Given the description of an element on the screen output the (x, y) to click on. 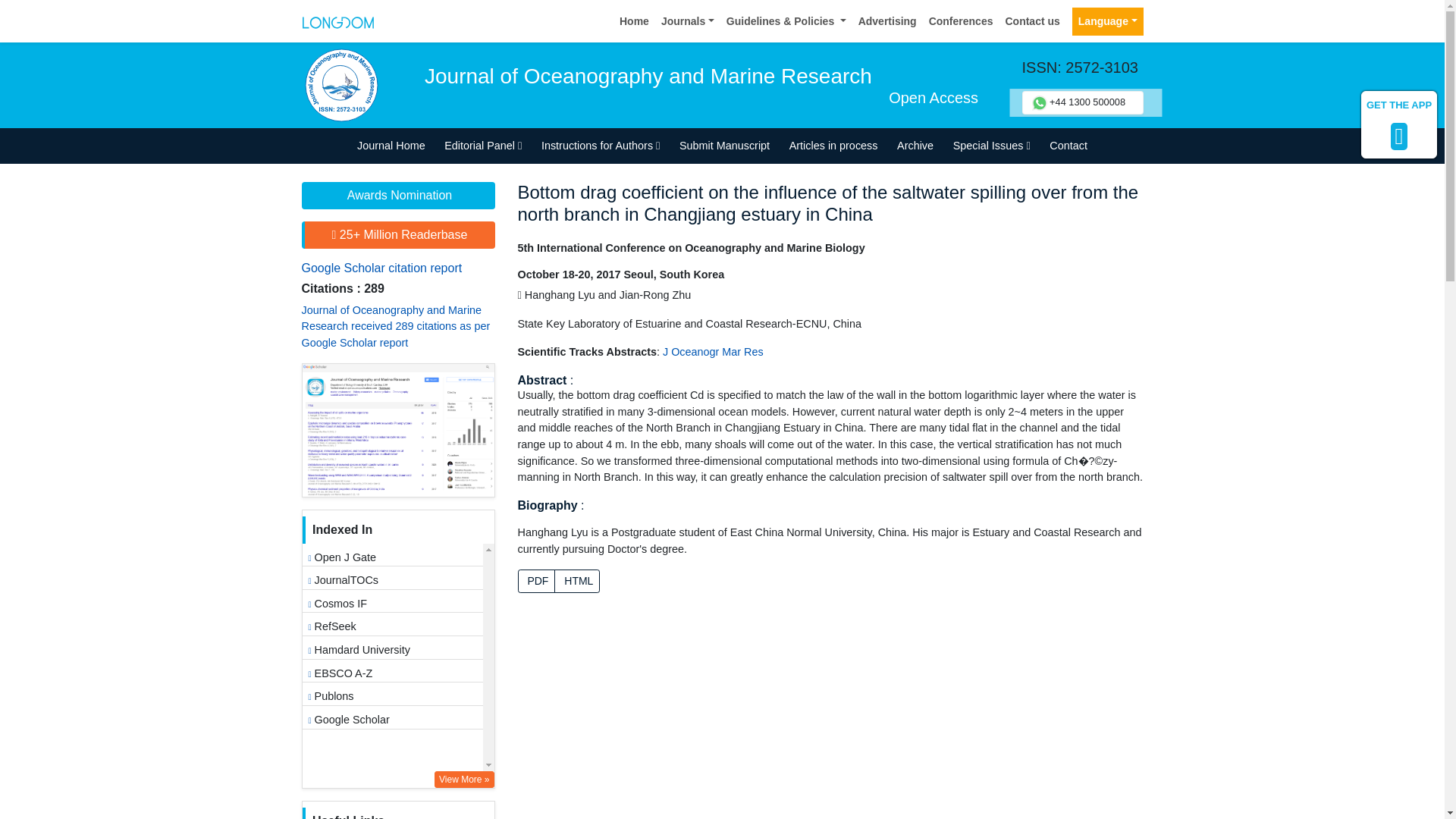
Articles in process (832, 145)
Journal Home (390, 145)
Advertising (887, 21)
Home (633, 21)
Journals (687, 21)
Home (633, 21)
Archive (914, 145)
Instructions for Authors (600, 145)
Submit Manuscript (723, 145)
Conferences (960, 21)
Editorial Panel (482, 145)
Longdom Publishing S.L (337, 20)
Advertising (887, 21)
Language (1106, 21)
Contact us (1031, 21)
